Given the description of an element on the screen output the (x, y) to click on. 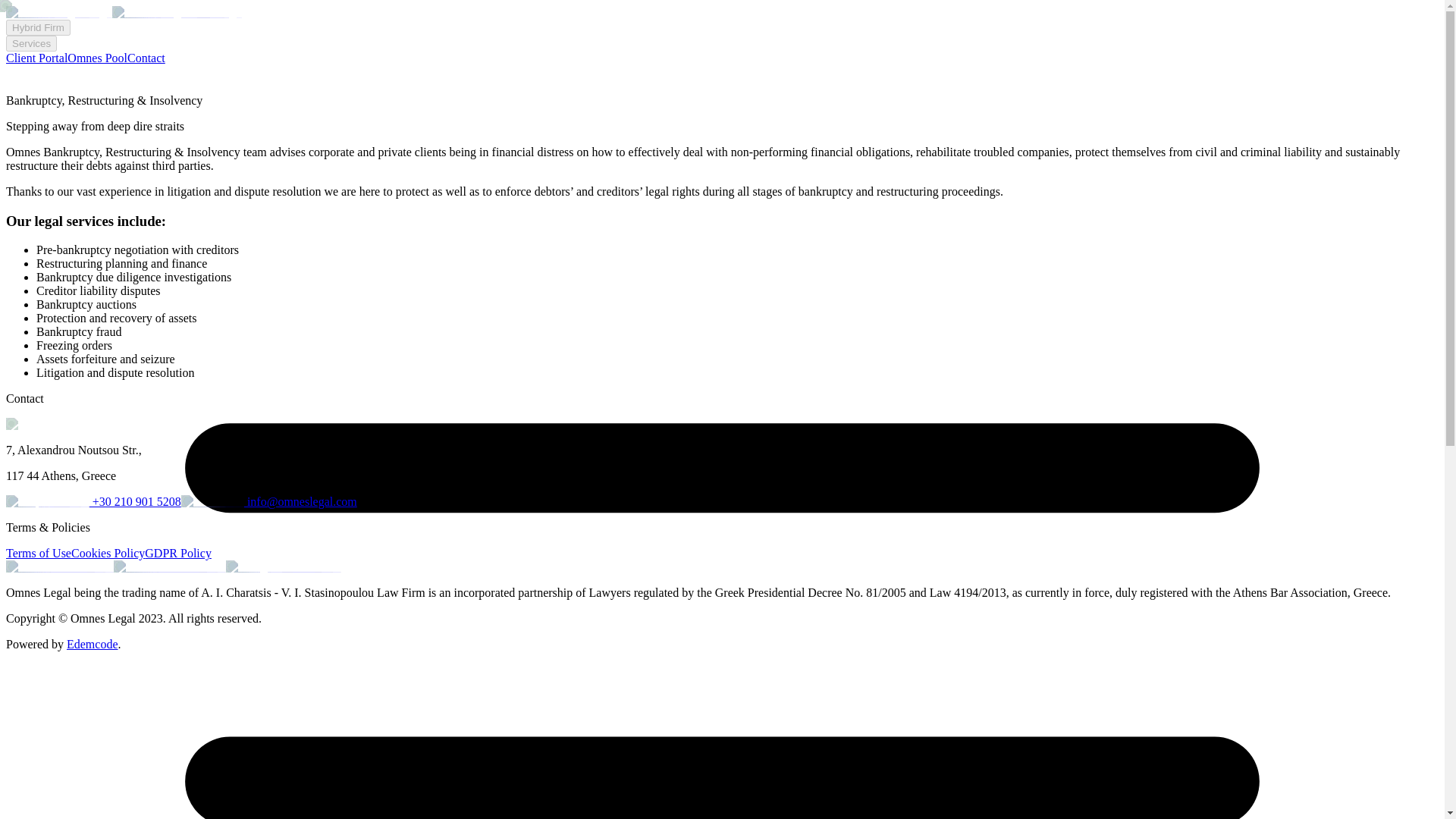
Contact (146, 57)
GDPR Policy (177, 553)
Cookies Policy (107, 553)
Client Portal (35, 57)
Terms of Use (38, 553)
Services (30, 43)
Edemcode (91, 644)
Omnes Pool (97, 57)
Hybrid Firm (37, 27)
